Given the description of an element on the screen output the (x, y) to click on. 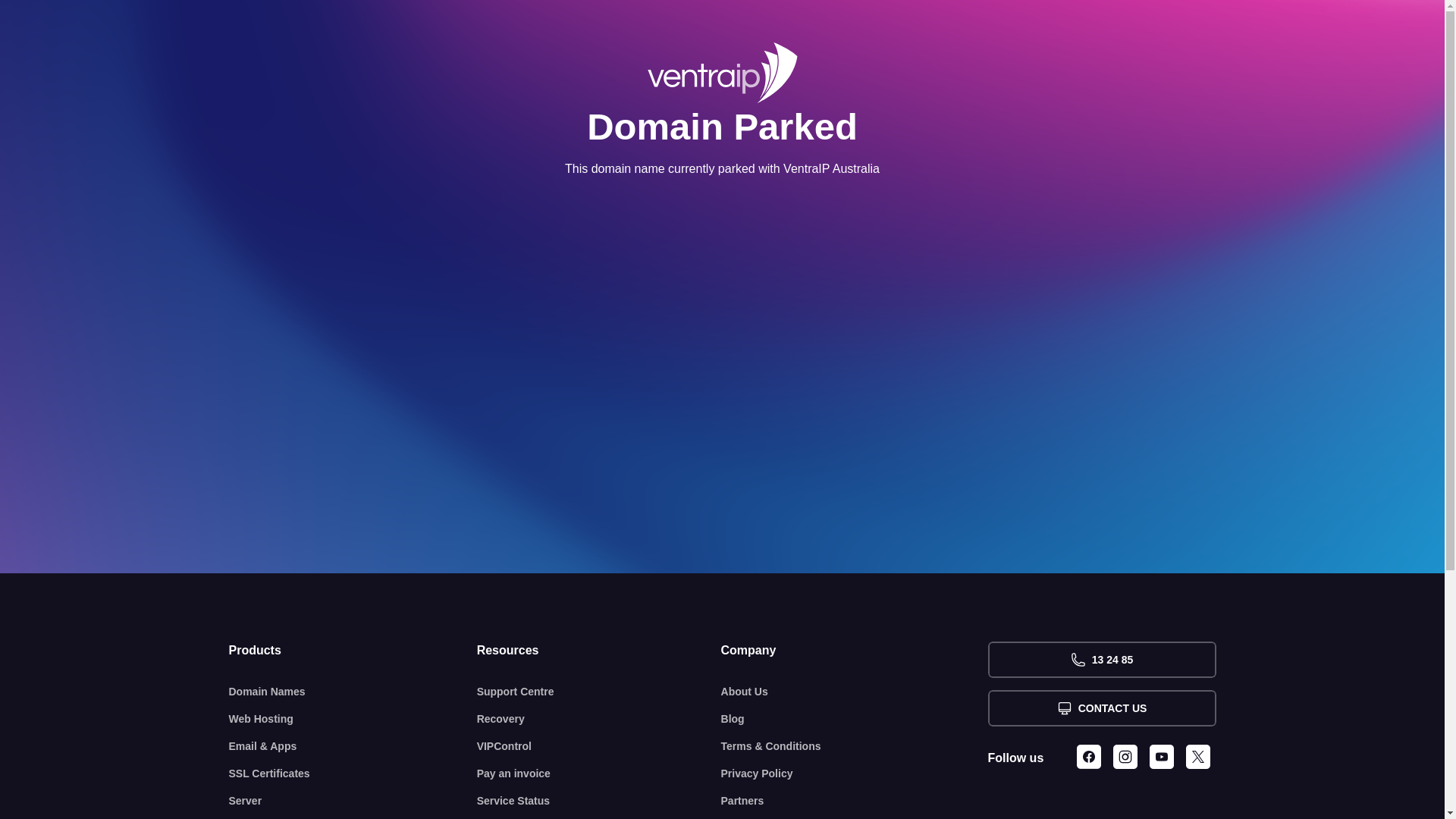
Privacy Policy Element type: text (854, 773)
Domain Names Element type: text (352, 691)
Terms & Conditions Element type: text (854, 745)
Support Centre Element type: text (598, 691)
Blog Element type: text (854, 718)
Service Status Element type: text (598, 800)
Recovery Element type: text (598, 718)
Server Element type: text (352, 800)
13 24 85 Element type: text (1101, 659)
Email & Apps Element type: text (352, 745)
VIPControl Element type: text (598, 745)
Partners Element type: text (854, 800)
Pay an invoice Element type: text (598, 773)
SSL Certificates Element type: text (352, 773)
CONTACT US Element type: text (1101, 708)
About Us Element type: text (854, 691)
Web Hosting Element type: text (352, 718)
